Given the description of an element on the screen output the (x, y) to click on. 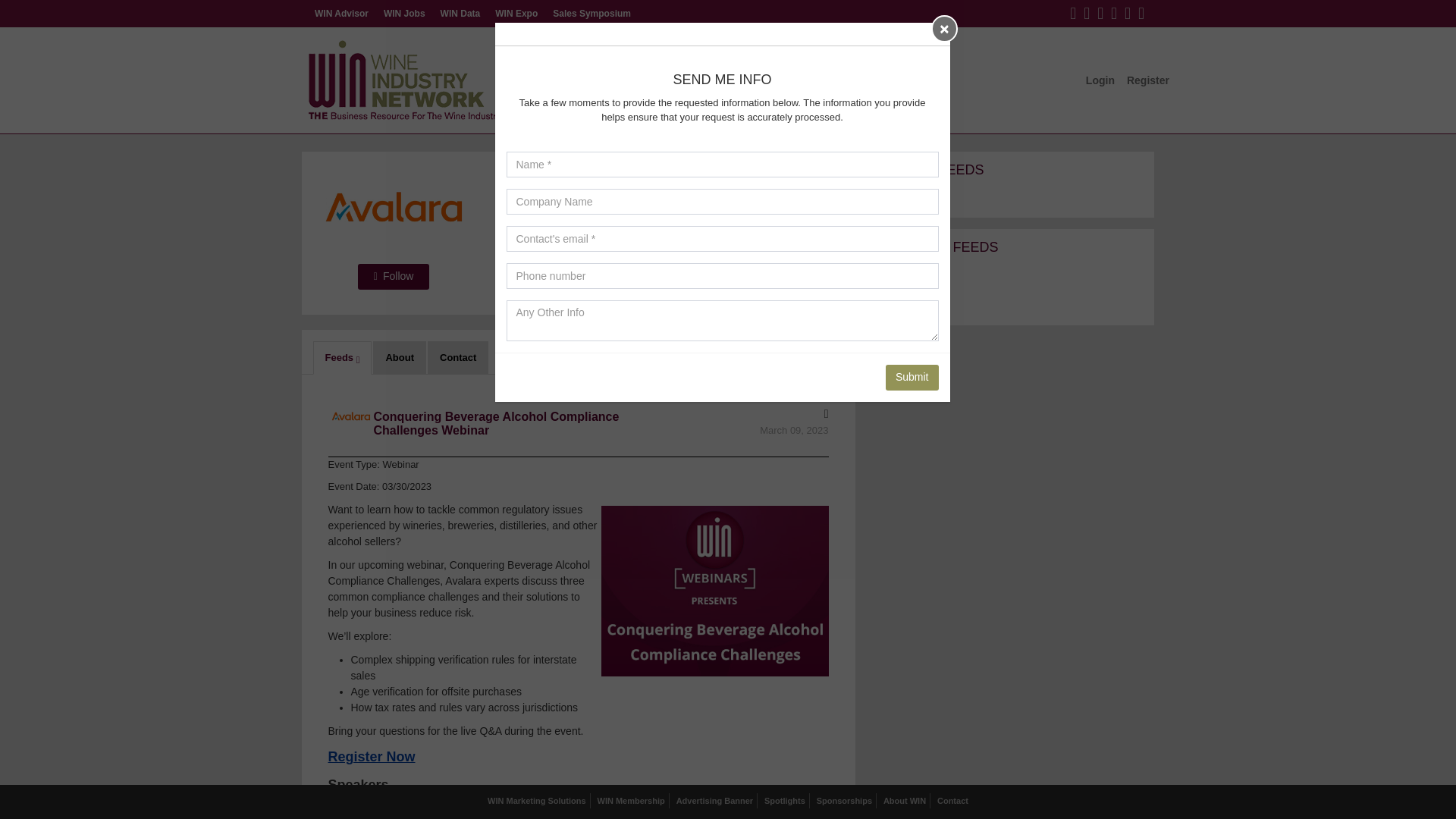
Register (1148, 80)
WIN Expo (515, 13)
877-855-9956 (537, 249)
About (399, 357)
Contact (457, 357)
Feeds (342, 357)
Follow (393, 276)
WIN Data (459, 13)
Register Now (370, 757)
WIN Advisor (341, 13)
WIN Jobs (403, 13)
News Feed (851, 102)
Sales Symposium (591, 13)
